Given the description of an element on the screen output the (x, y) to click on. 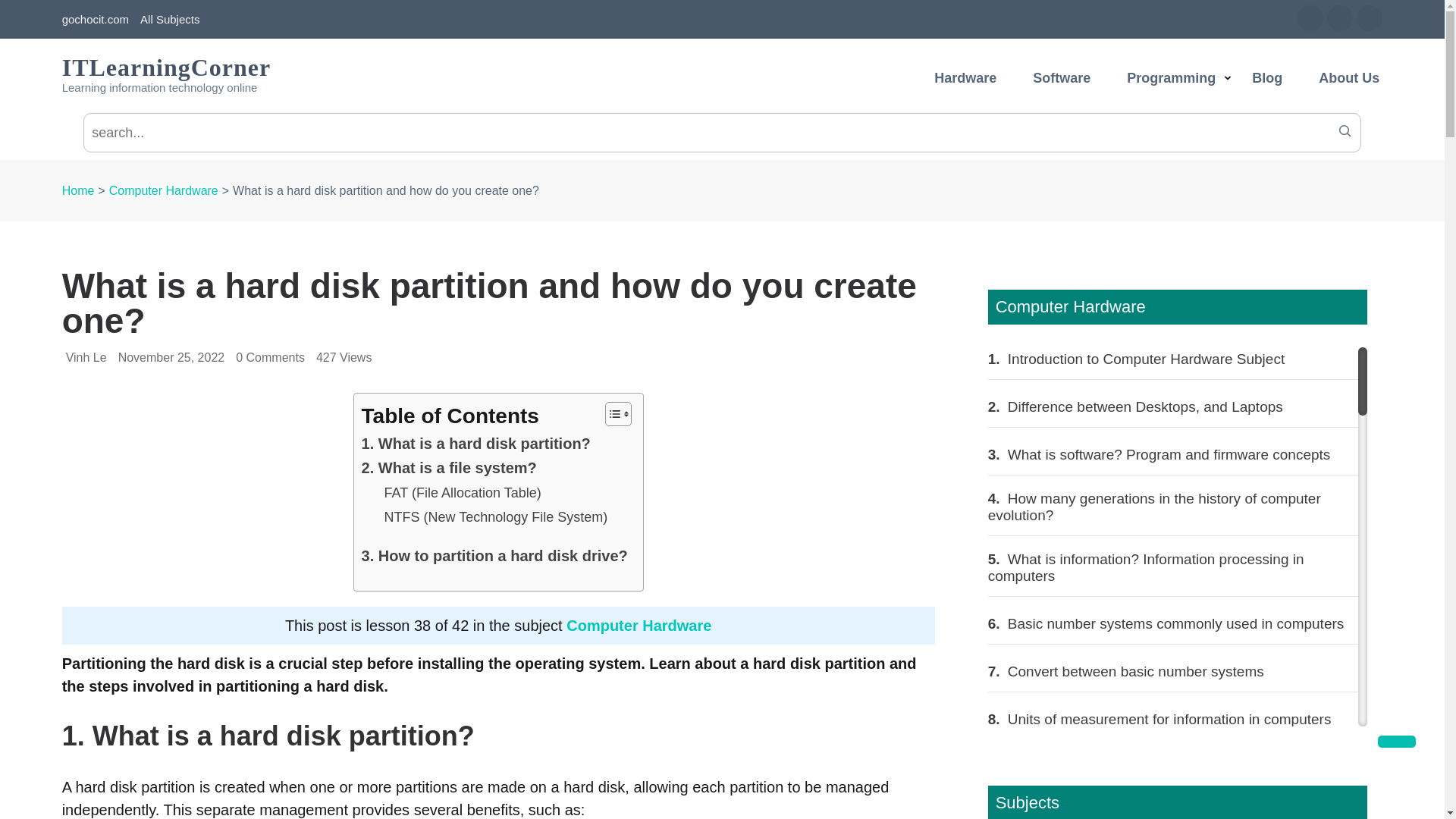
gochocit.com (95, 19)
2. What is a file system? (449, 467)
Difference between Desktops, and Laptops (1143, 406)
3. How to partition a hard disk drive? (494, 555)
Vinh Le (85, 357)
Twitter (1339, 17)
Introduction to Computer Hardware Subject (1144, 358)
Programming (1171, 87)
Search (1345, 130)
2. What is a file system? (449, 467)
